Given the description of an element on the screen output the (x, y) to click on. 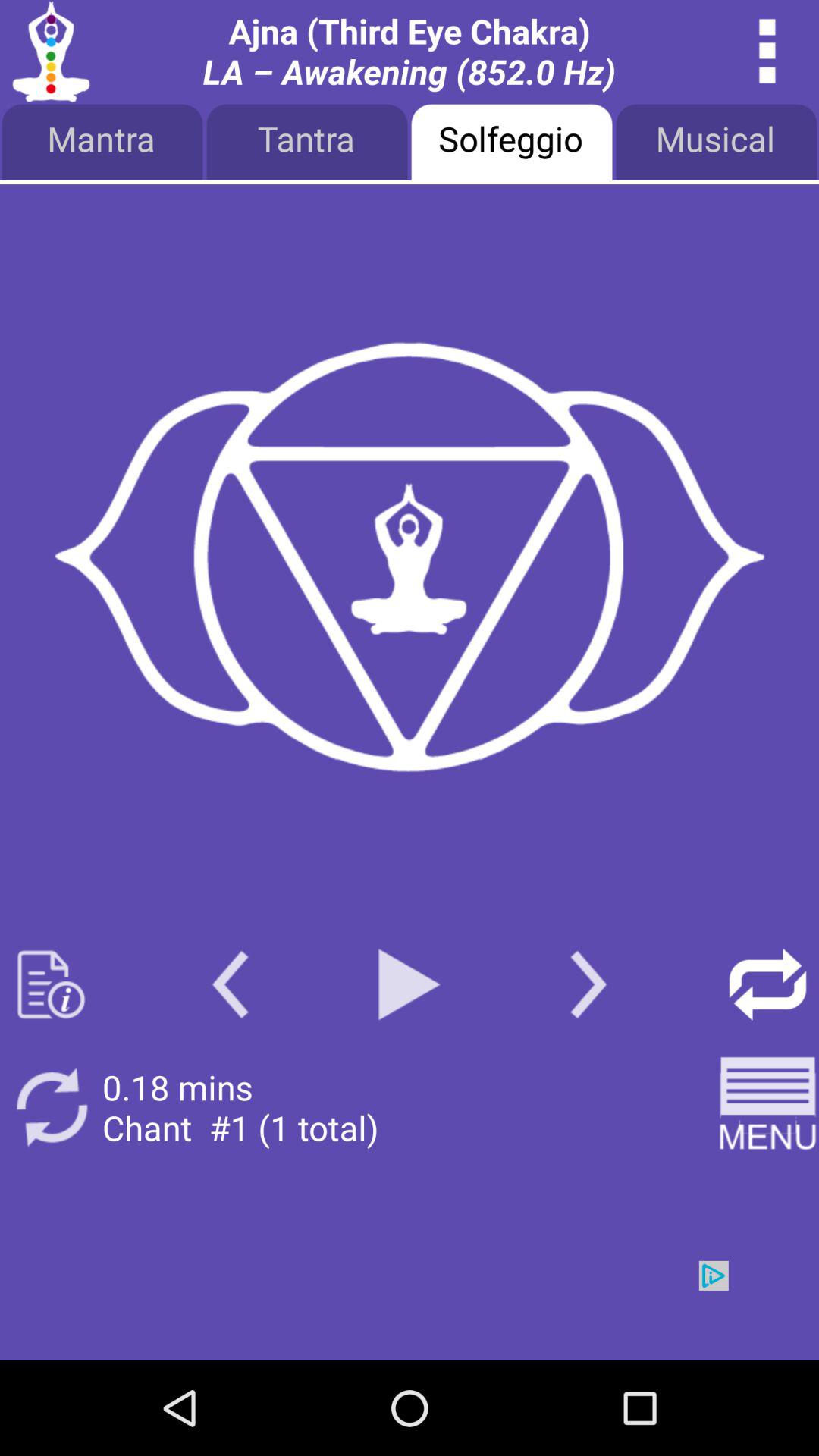
play (409, 984)
